Given the description of an element on the screen output the (x, y) to click on. 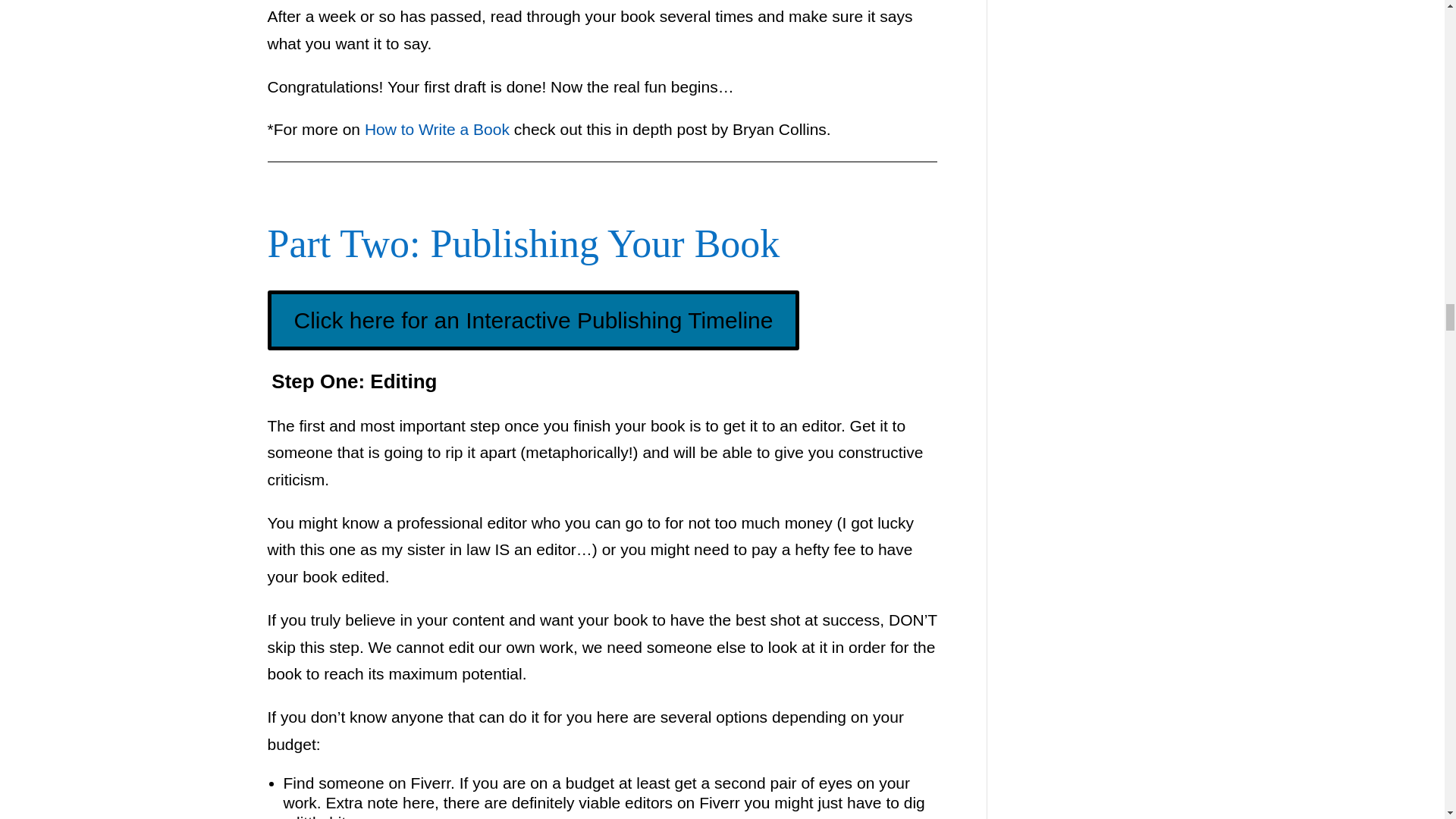
How to Write a Book (437, 129)
Click here for an Interactive Publishing Timeline (532, 320)
